Given the description of an element on the screen output the (x, y) to click on. 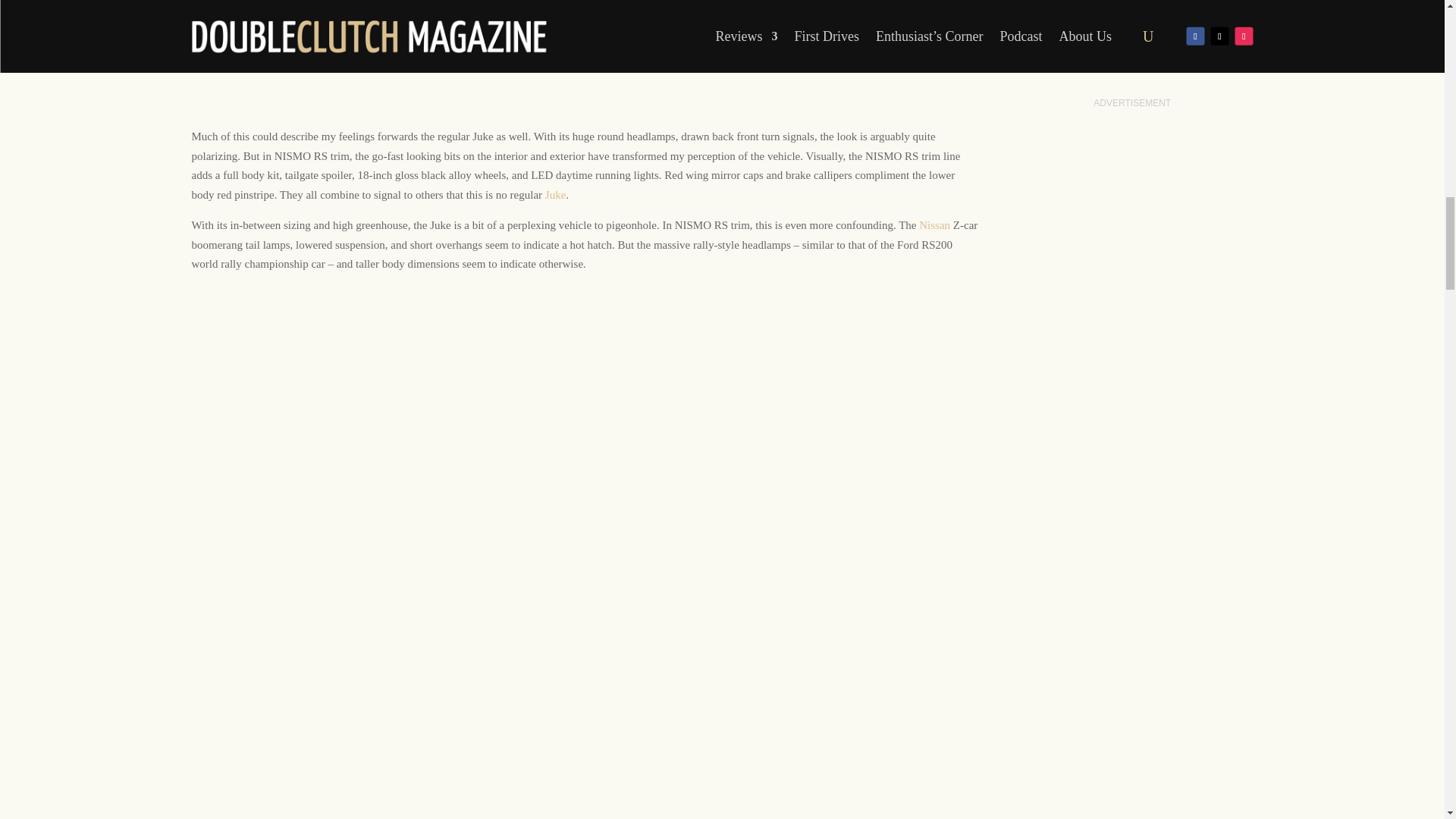
Nissan Reviews (934, 224)
2013 Nissan Juke Nismo (555, 194)
